Given the description of an element on the screen output the (x, y) to click on. 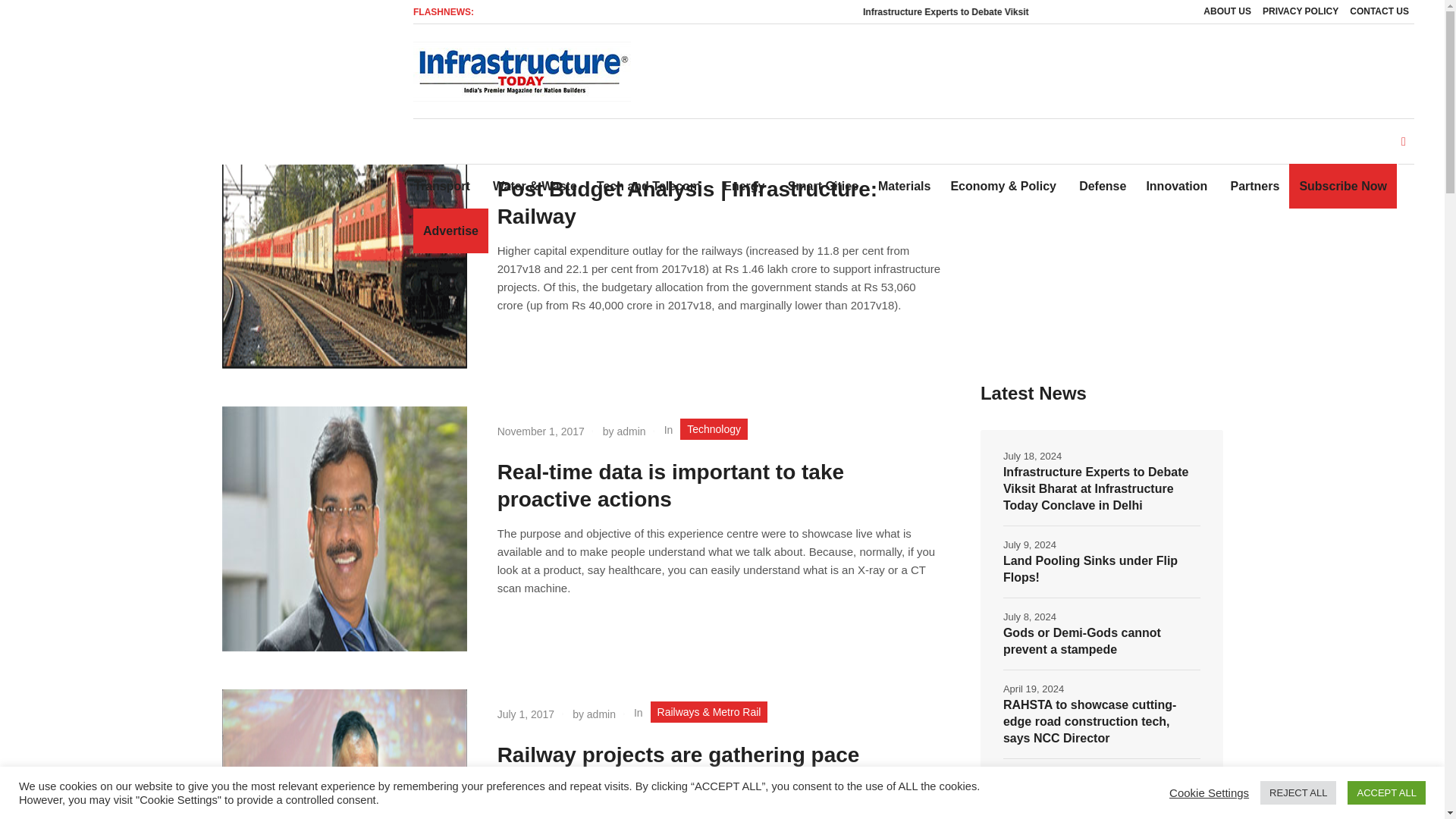
CONTACT US (1378, 11)
Transport (446, 185)
PRIVACY POLICY (1300, 11)
Tech and Telecom (648, 185)
Energy (743, 185)
ABOUT US (1227, 11)
